Given the description of an element on the screen output the (x, y) to click on. 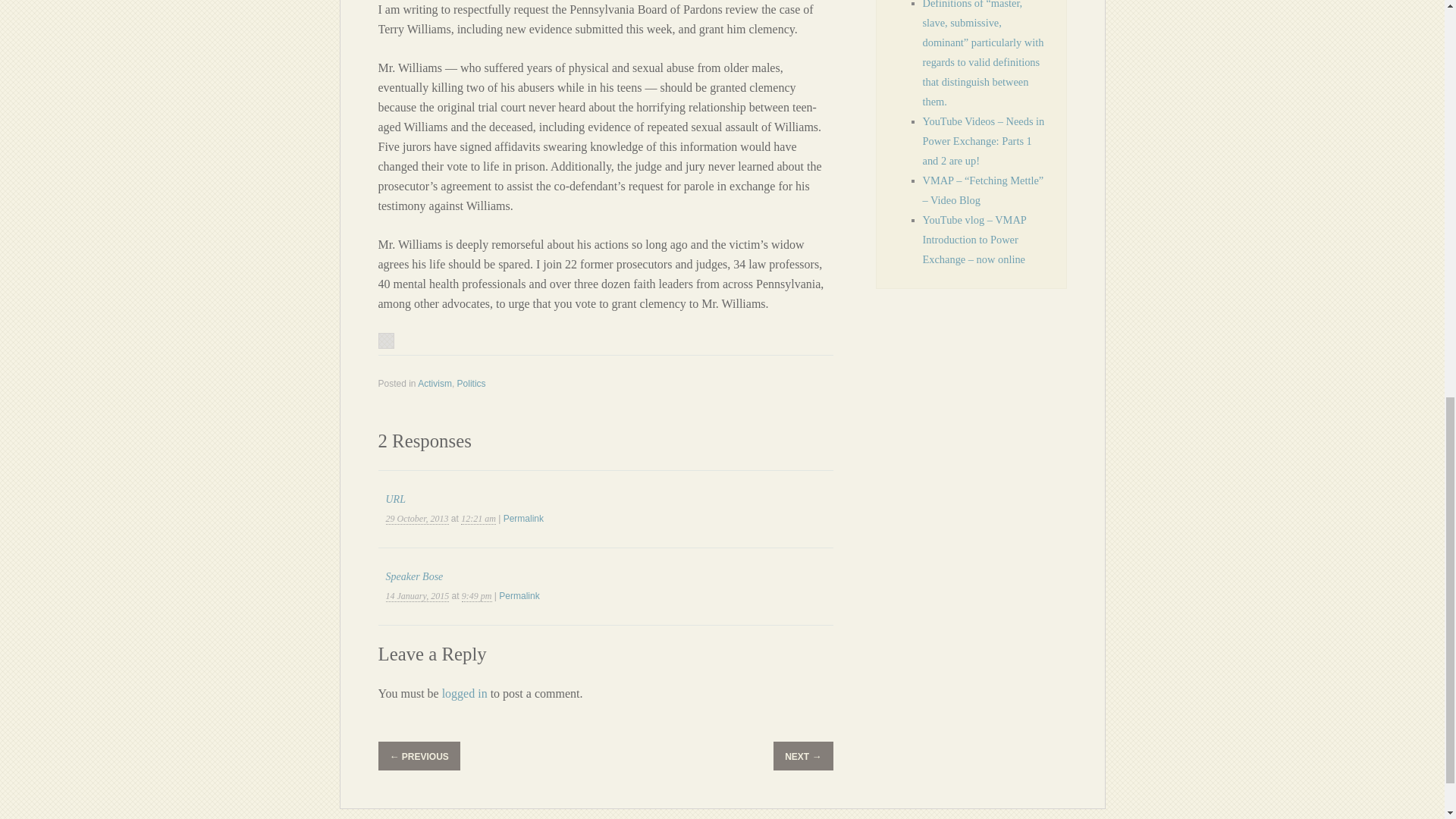
Tuesday, October 29th, 2013, 12:21 am (416, 518)
logged in (464, 693)
Permalink (518, 595)
Wednesday, January 14th, 2015, 9:49 pm (416, 595)
Speaker Bose (413, 576)
Tuesday, October 29th, 2013, 12:21 am (478, 518)
Permalink (523, 518)
Permalink to comment 48 (523, 518)
URL (394, 499)
Politics (471, 383)
